Given the description of an element on the screen output the (x, y) to click on. 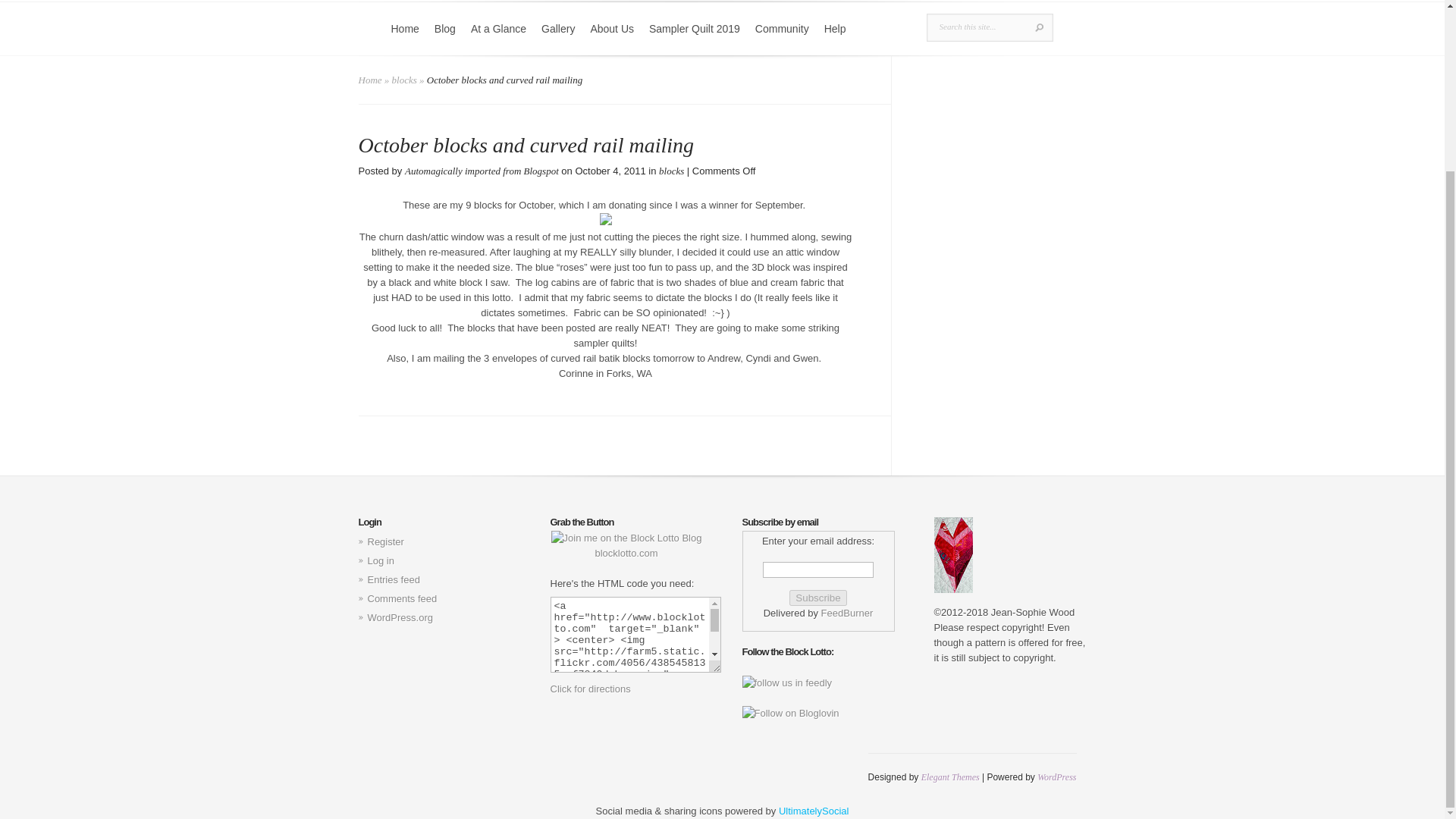
Home (369, 79)
Gallery (558, 38)
Search this site... (979, 26)
Posts by Automagically imported from Blogspot (481, 170)
UltimatelySocial (813, 810)
Comments feed (401, 598)
About Us (612, 38)
WordPress (1055, 777)
Click for directions (590, 688)
WordPress.org (399, 617)
